Given the description of an element on the screen output the (x, y) to click on. 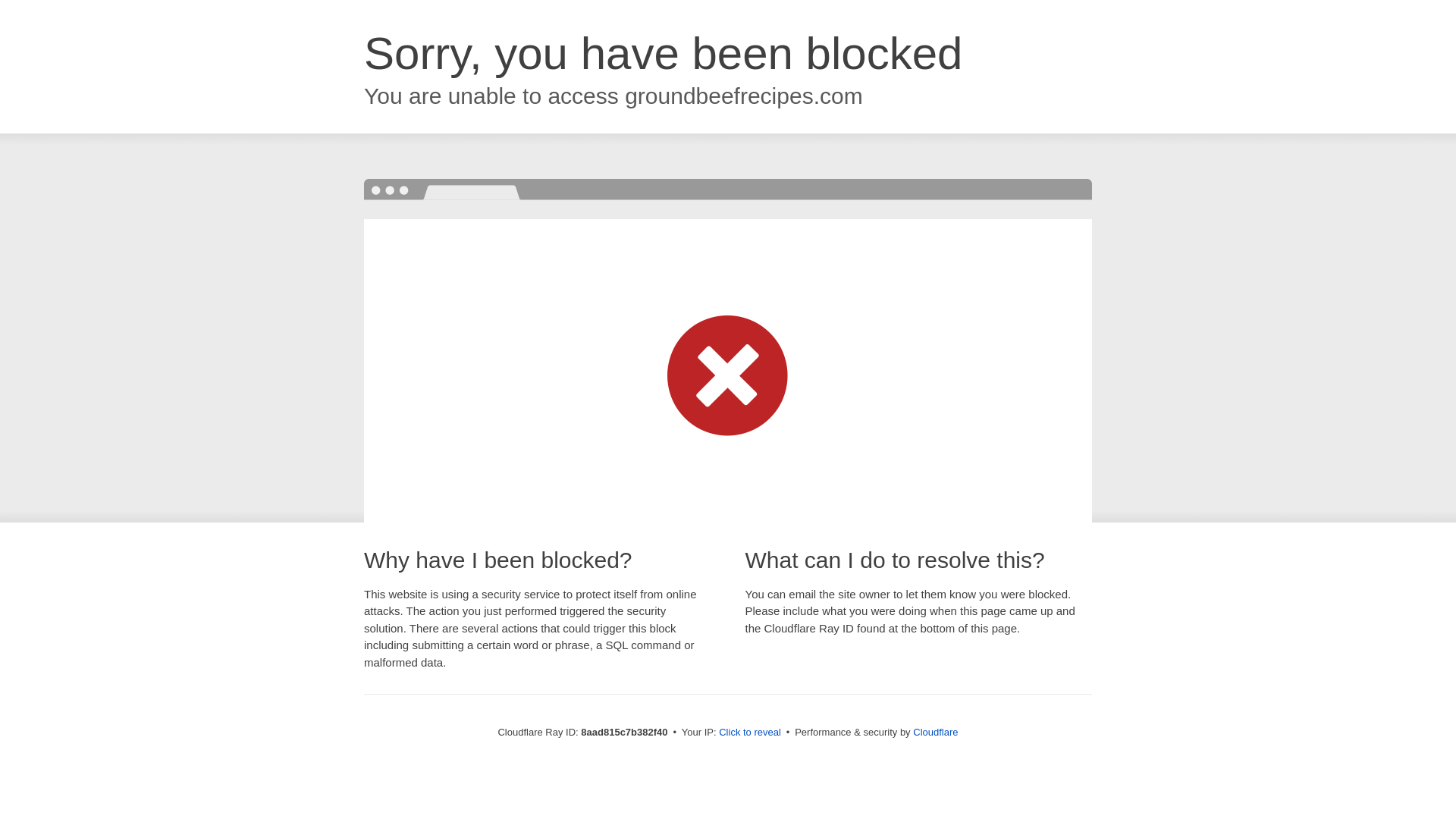
Cloudflare (935, 731)
Click to reveal (749, 732)
